Given the description of an element on the screen output the (x, y) to click on. 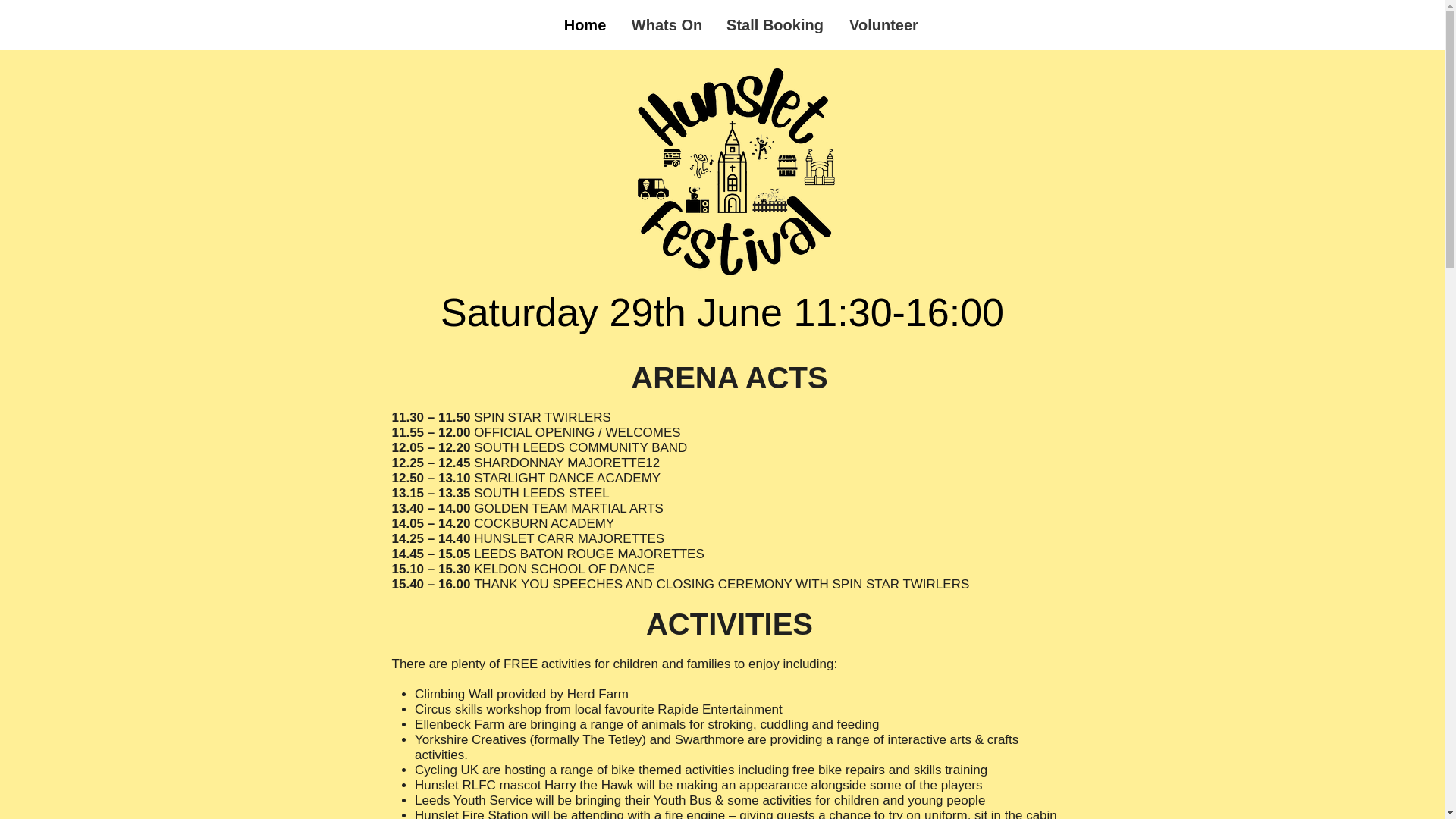
Stall Booking (774, 24)
Whats On (666, 24)
Volunteer (883, 24)
Home (584, 24)
